Given the description of an element on the screen output the (x, y) to click on. 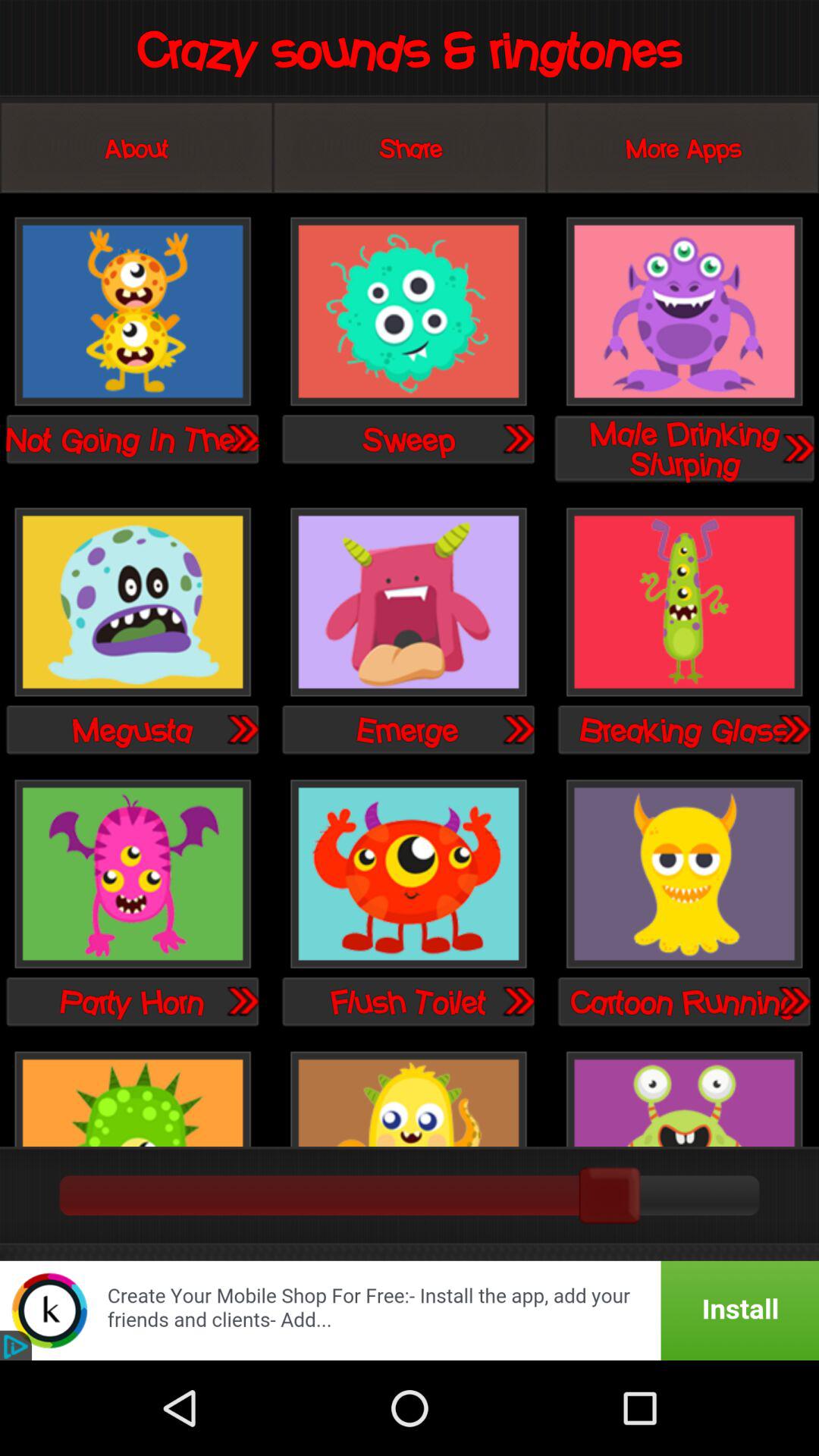
it is a monster pointing down (132, 874)
